Given the description of an element on the screen output the (x, y) to click on. 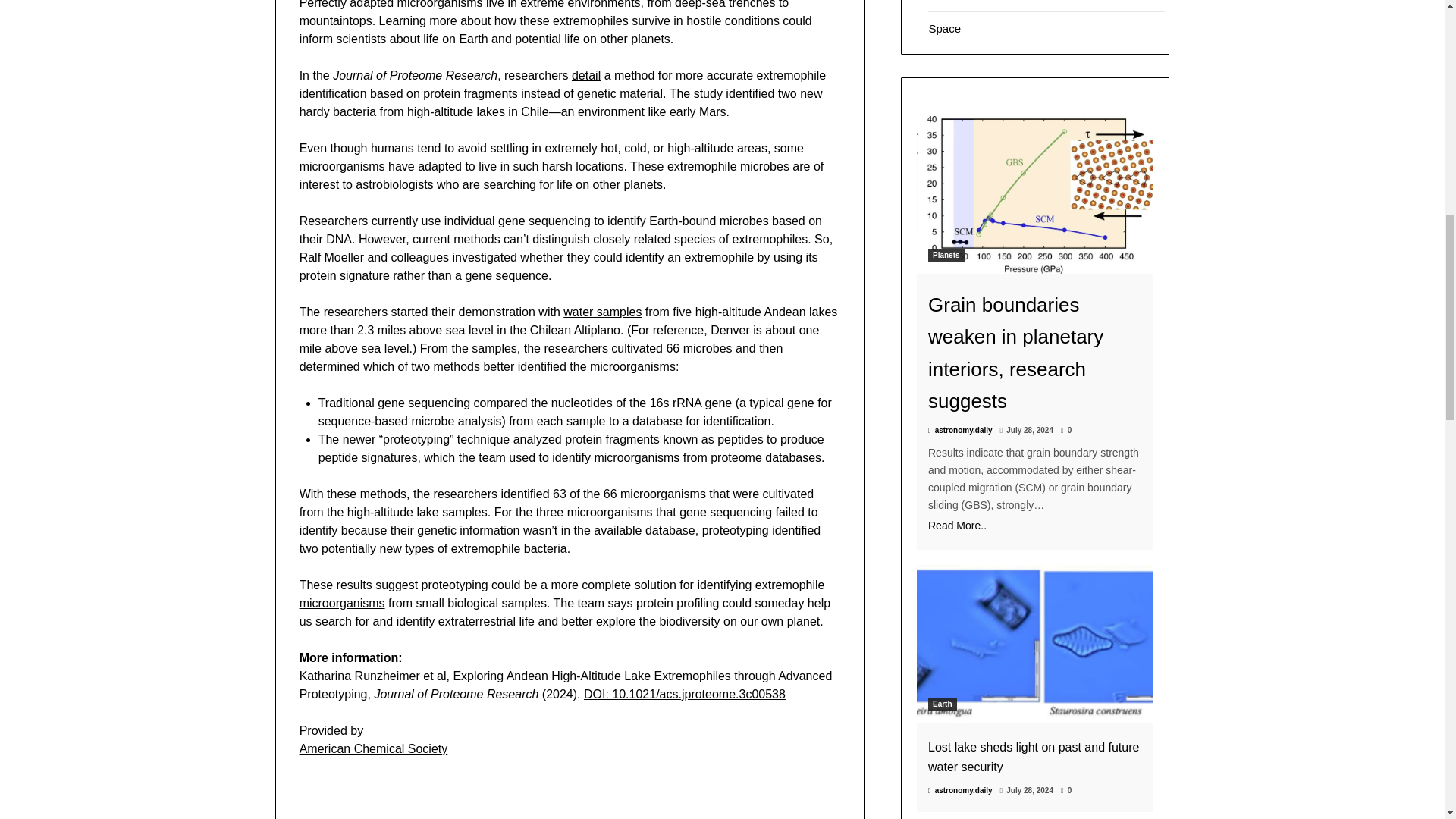
Planets (945, 255)
protein fragments (470, 92)
astronomy.daily (960, 429)
microorganisms (342, 602)
detail (585, 74)
Space (944, 28)
American Chemical Society (373, 748)
water samples (602, 310)
